Given the description of an element on the screen output the (x, y) to click on. 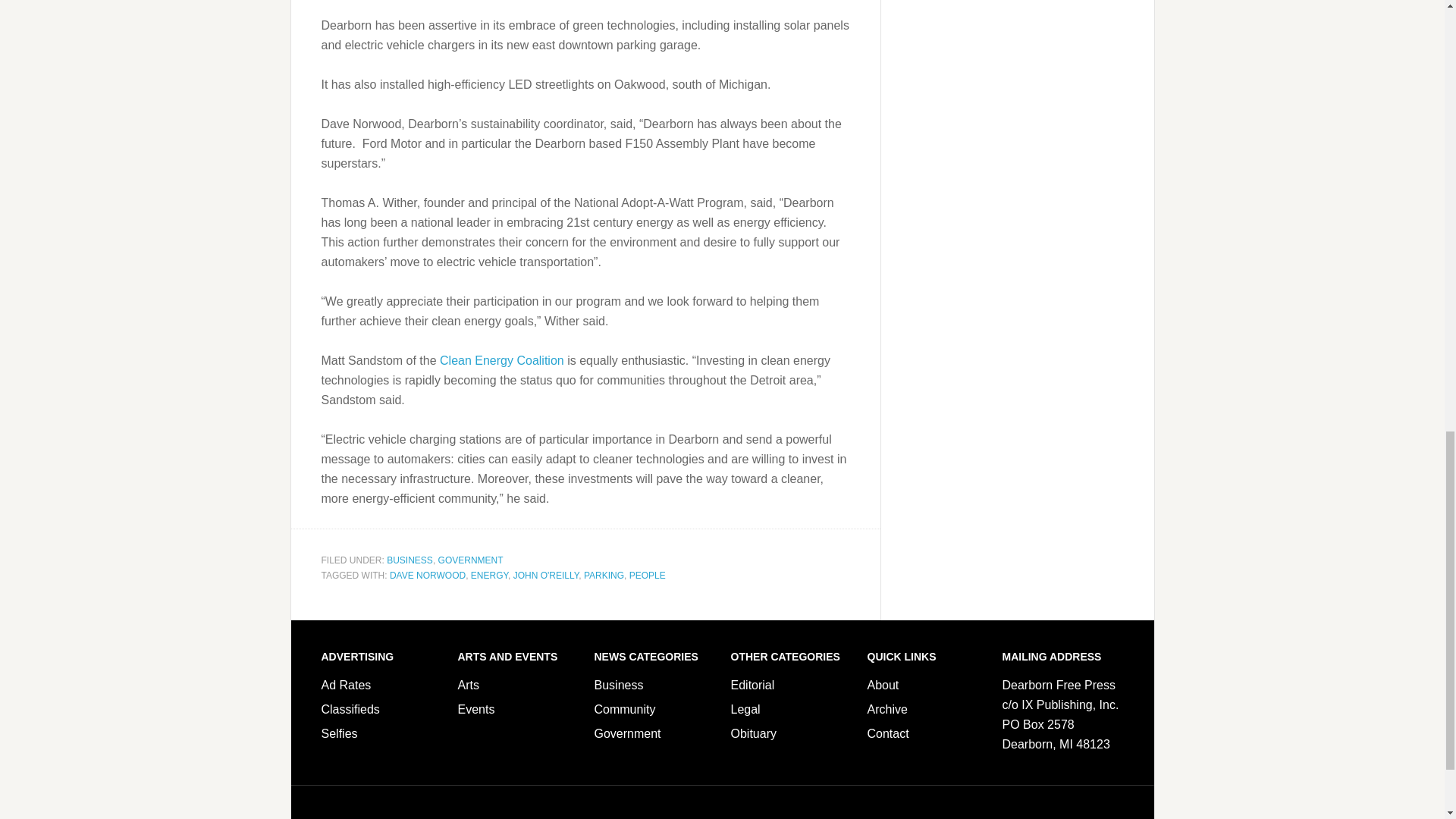
Ad Rates (346, 684)
GOVERNMENT (470, 560)
Clean Energy Coalition (501, 359)
PARKING (603, 574)
Selfies (339, 733)
JOHN O'REILLY (546, 574)
ENERGY (489, 574)
PEOPLE (646, 574)
BUSINESS (409, 560)
Events (476, 708)
DAVE NORWOOD (427, 574)
Arts (468, 684)
Classifieds (350, 708)
